Given the description of an element on the screen output the (x, y) to click on. 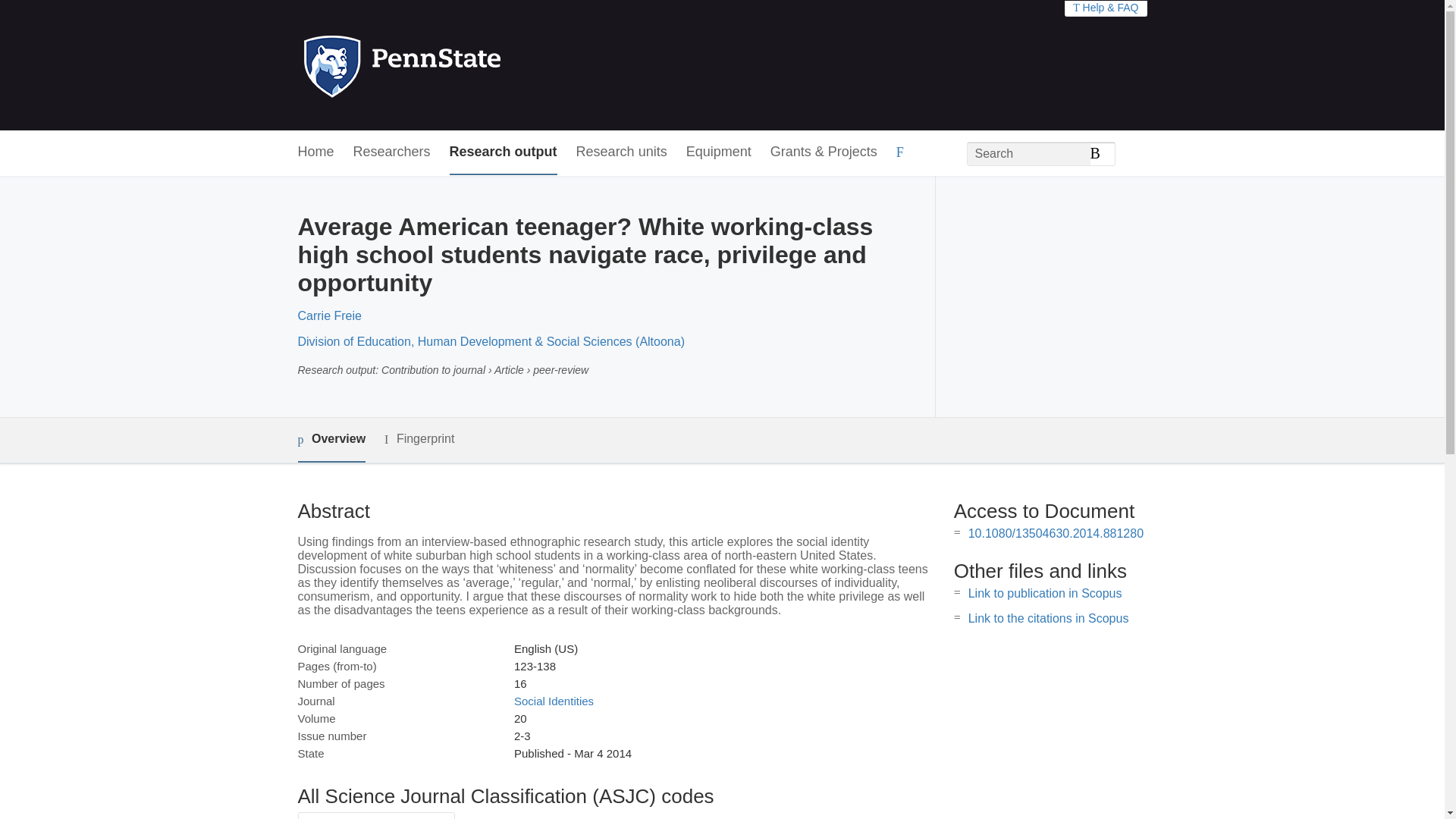
Overview (331, 439)
Researchers (391, 152)
Penn State Home (467, 65)
Link to the citations in Scopus (1048, 617)
Carrie Freie (329, 315)
Research output (503, 152)
Fingerprint (419, 439)
Link to publication in Scopus (1045, 593)
Research units (621, 152)
